Given the description of an element on the screen output the (x, y) to click on. 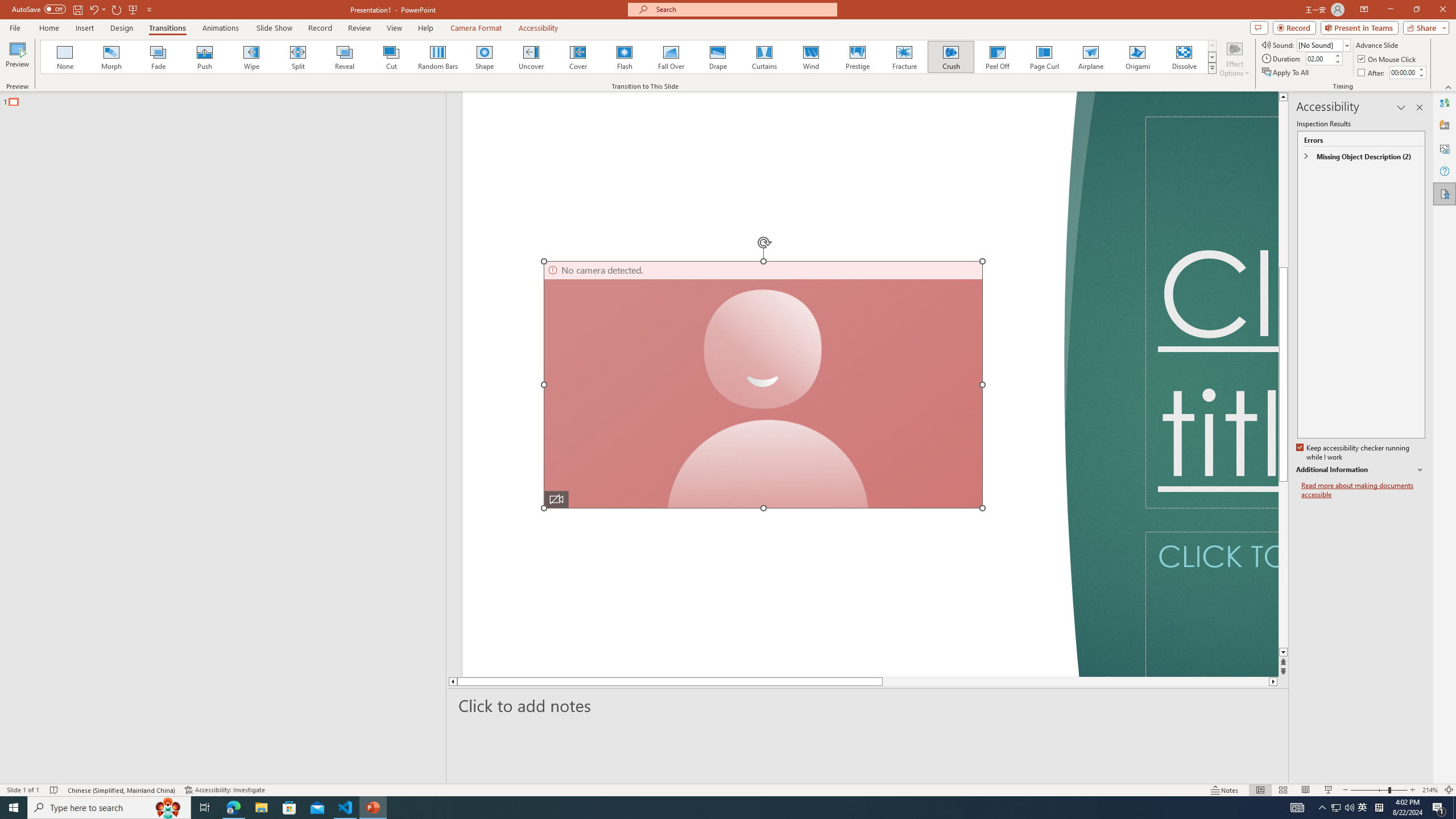
Peel Off (997, 56)
Flash (624, 56)
Transition Effects (1212, 67)
Dissolve (1183, 56)
